Given the description of an element on the screen output the (x, y) to click on. 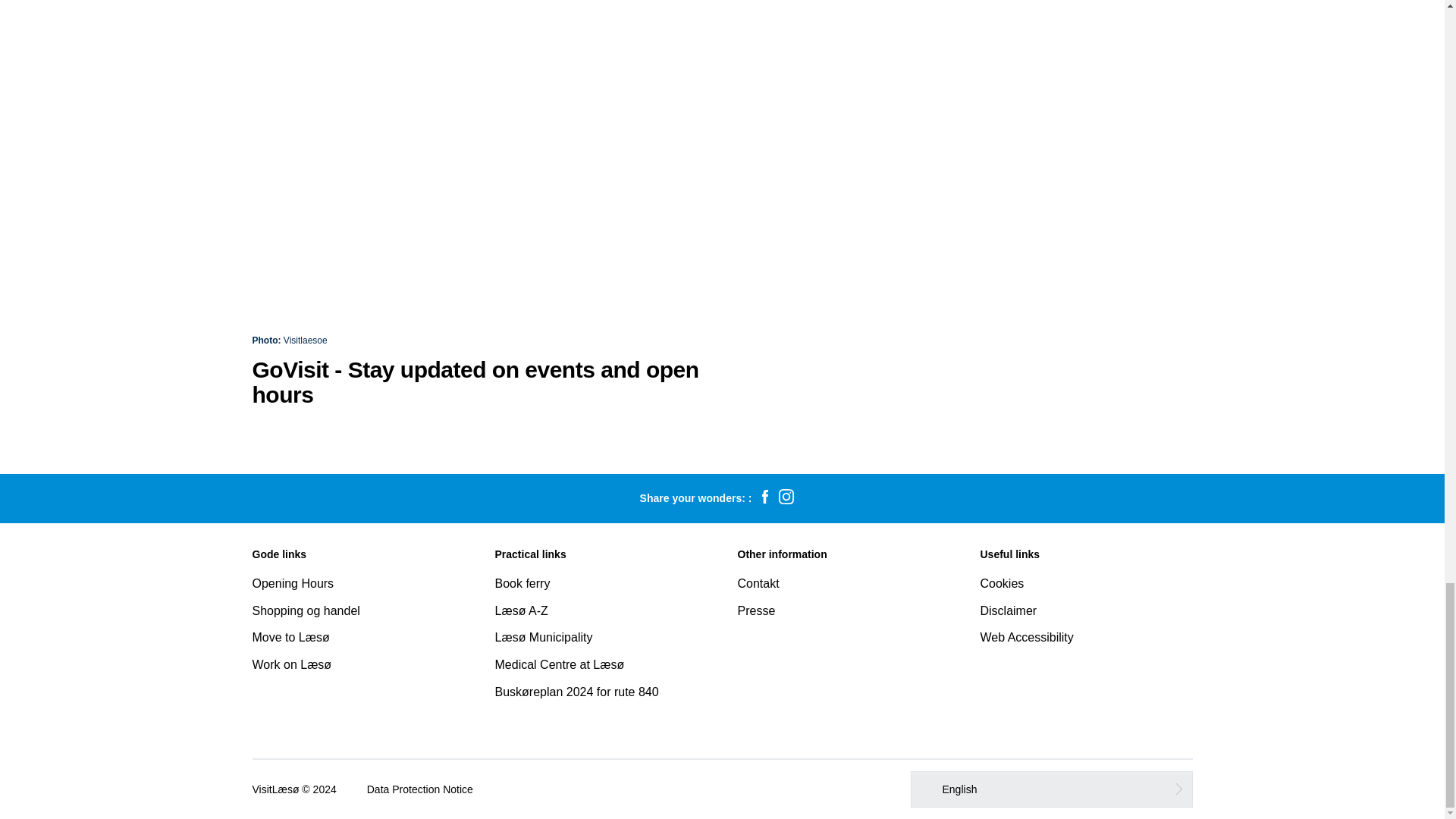
Contakt (757, 583)
Data Protection Notice (419, 789)
Cookies (1001, 583)
Opening Hours (292, 583)
facebook (765, 498)
Shopping og handel (305, 610)
Shopping og handel (305, 610)
Book ferry (522, 583)
Disclaimer (1007, 610)
Opening Hours (292, 583)
Presse (755, 610)
Web Accessibility (1026, 636)
Book ferry (522, 583)
